Given the description of an element on the screen output the (x, y) to click on. 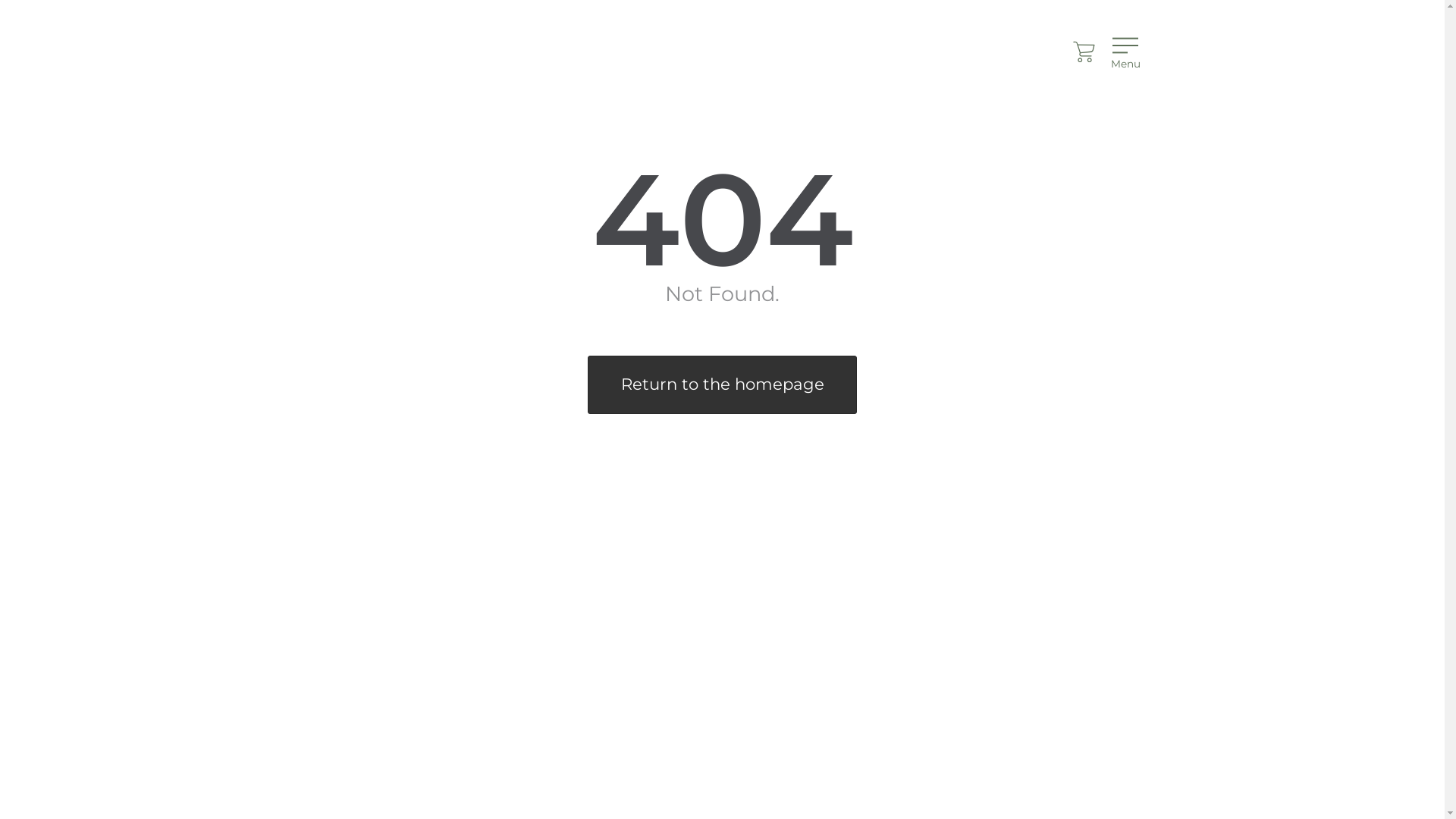
Cart Element type: hover (1083, 51)
